Given the description of an element on the screen output the (x, y) to click on. 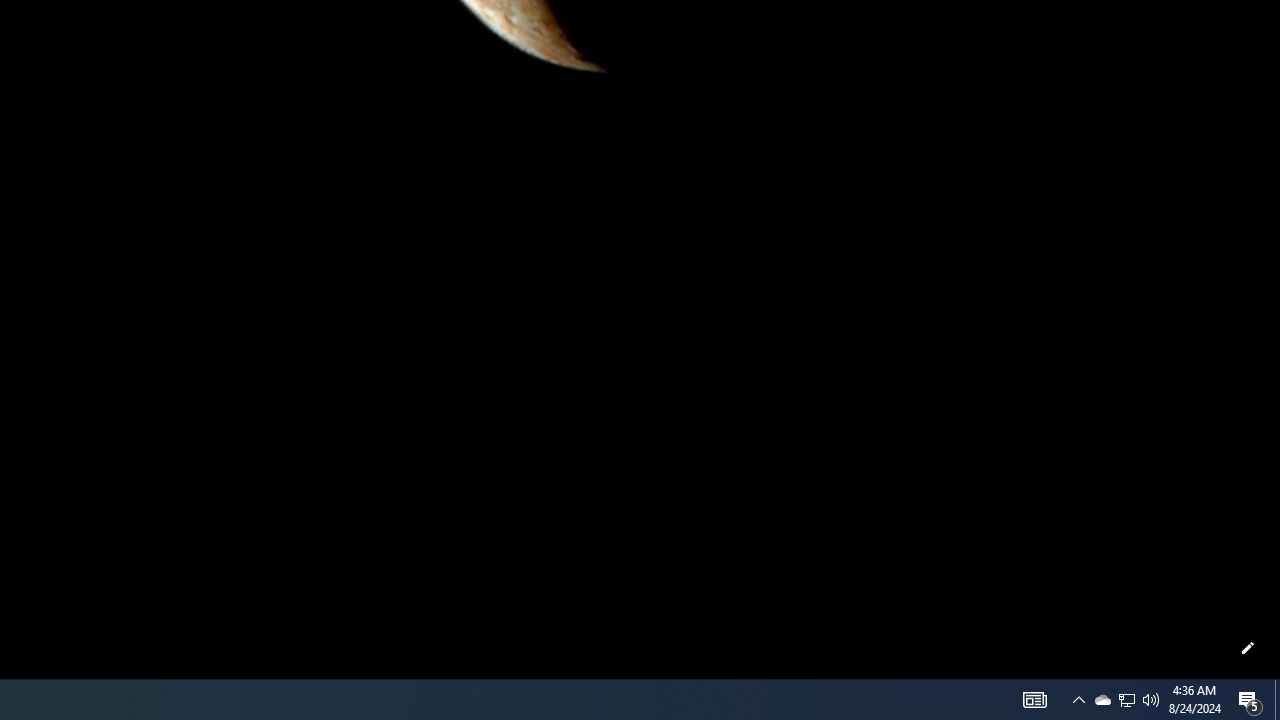
Customize this page (1247, 647)
